Given the description of an element on the screen output the (x, y) to click on. 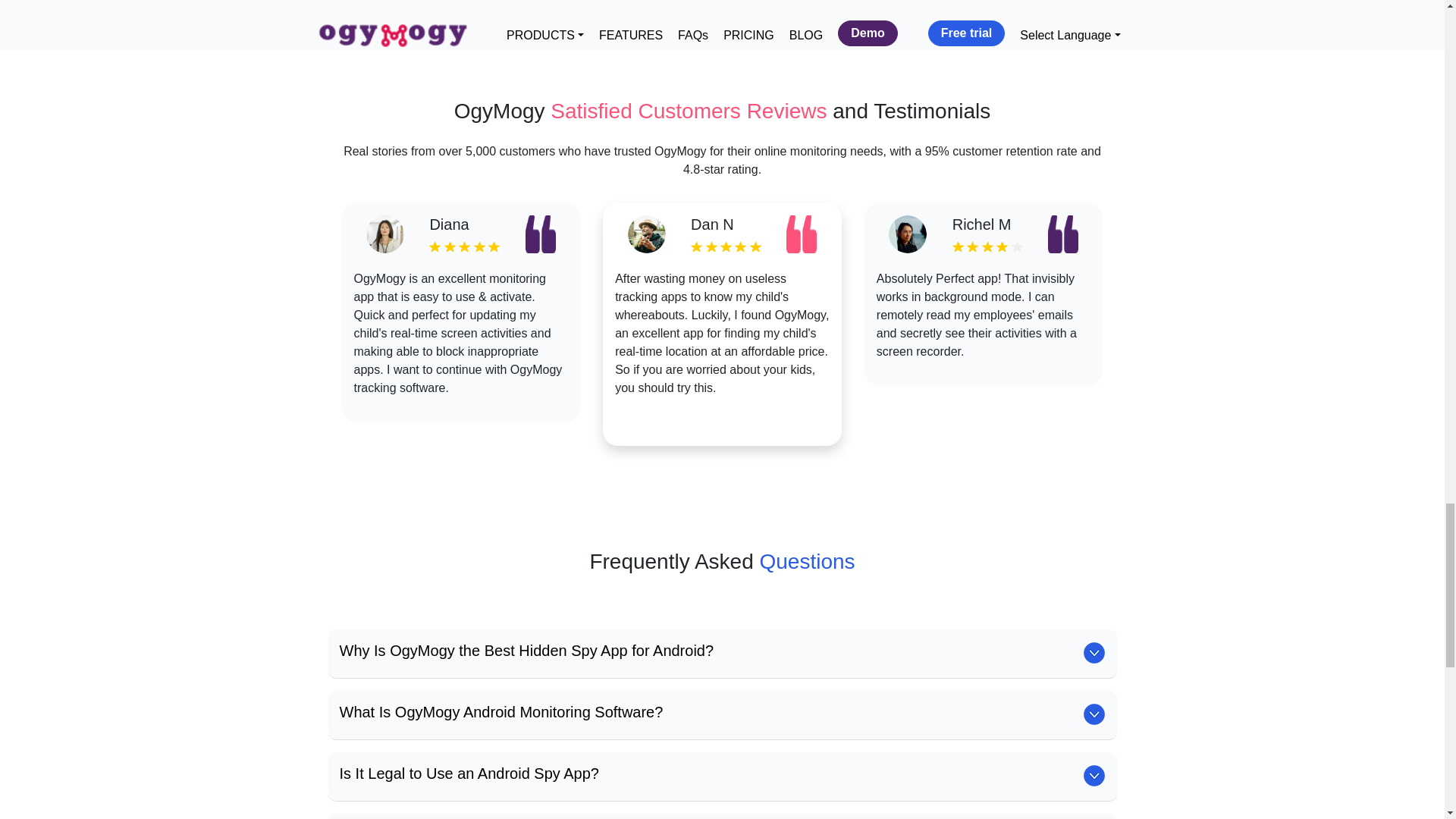
Why Is OgyMogy the Best Hidden Spy App for Android? (526, 650)
What Is OgyMogy Android Monitoring Software? (501, 711)
Is It Legal to Use an Android Spy App? (468, 773)
